Given the description of an element on the screen output the (x, y) to click on. 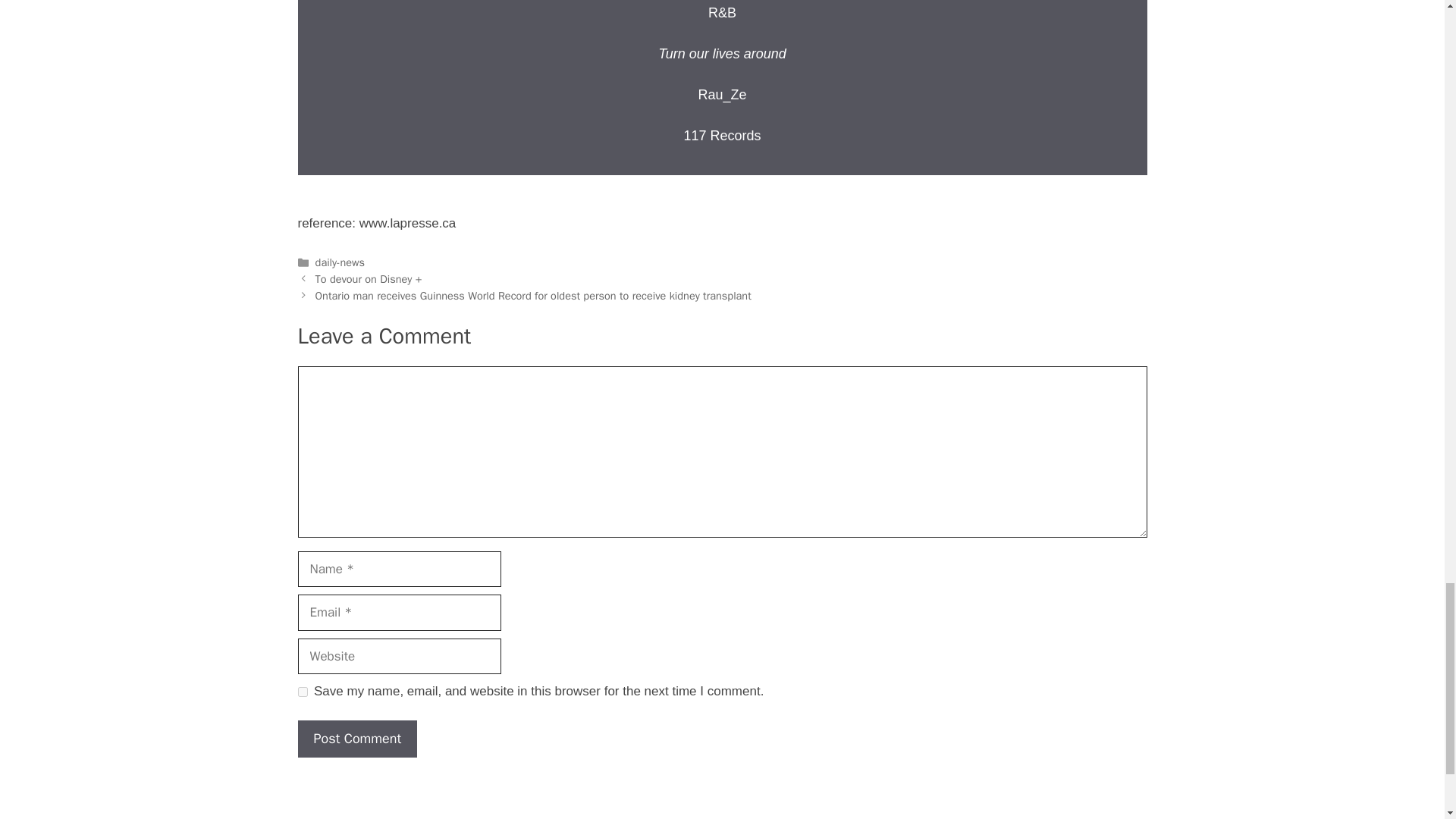
yes (302, 691)
Post Comment (356, 738)
Post Comment (356, 738)
daily-news (340, 262)
